Given the description of an element on the screen output the (x, y) to click on. 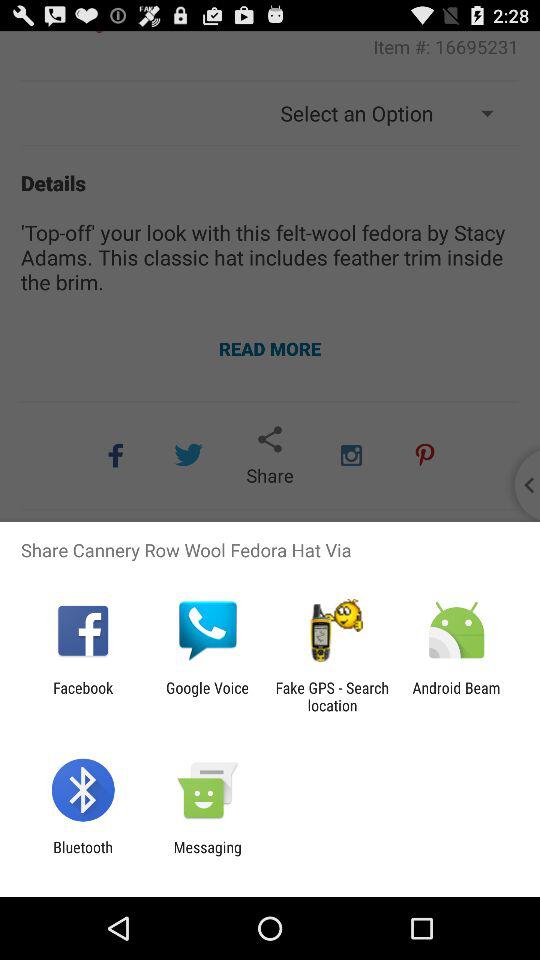
launch icon to the left of the google voice item (83, 696)
